Given the description of an element on the screen output the (x, y) to click on. 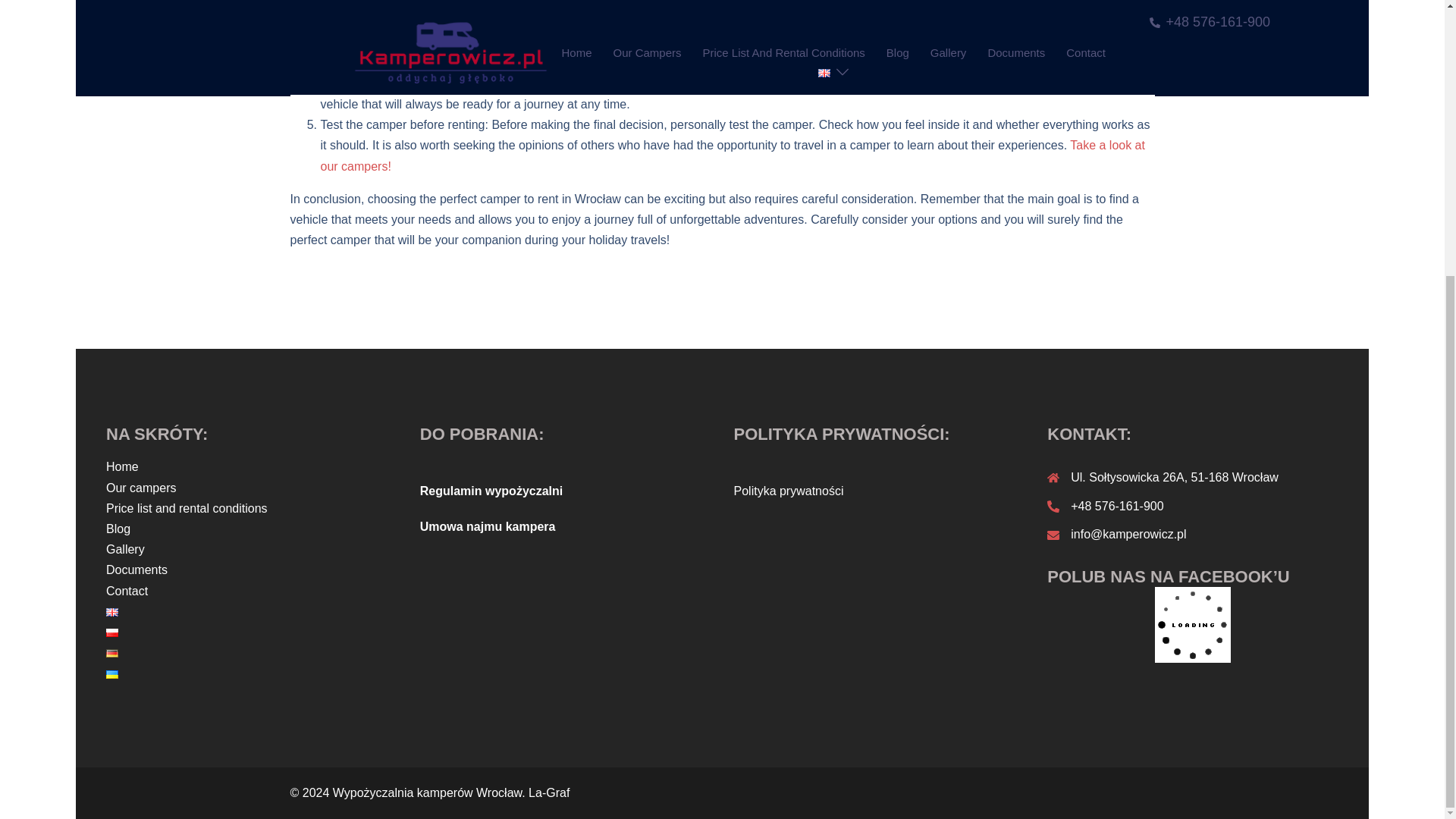
Documents (136, 569)
Our campers (141, 487)
Take a look at our campers! (732, 154)
Blog (118, 528)
Price list and rental conditions (186, 508)
Gallery (125, 549)
Home (122, 466)
Contact (127, 590)
